Given the description of an element on the screen output the (x, y) to click on. 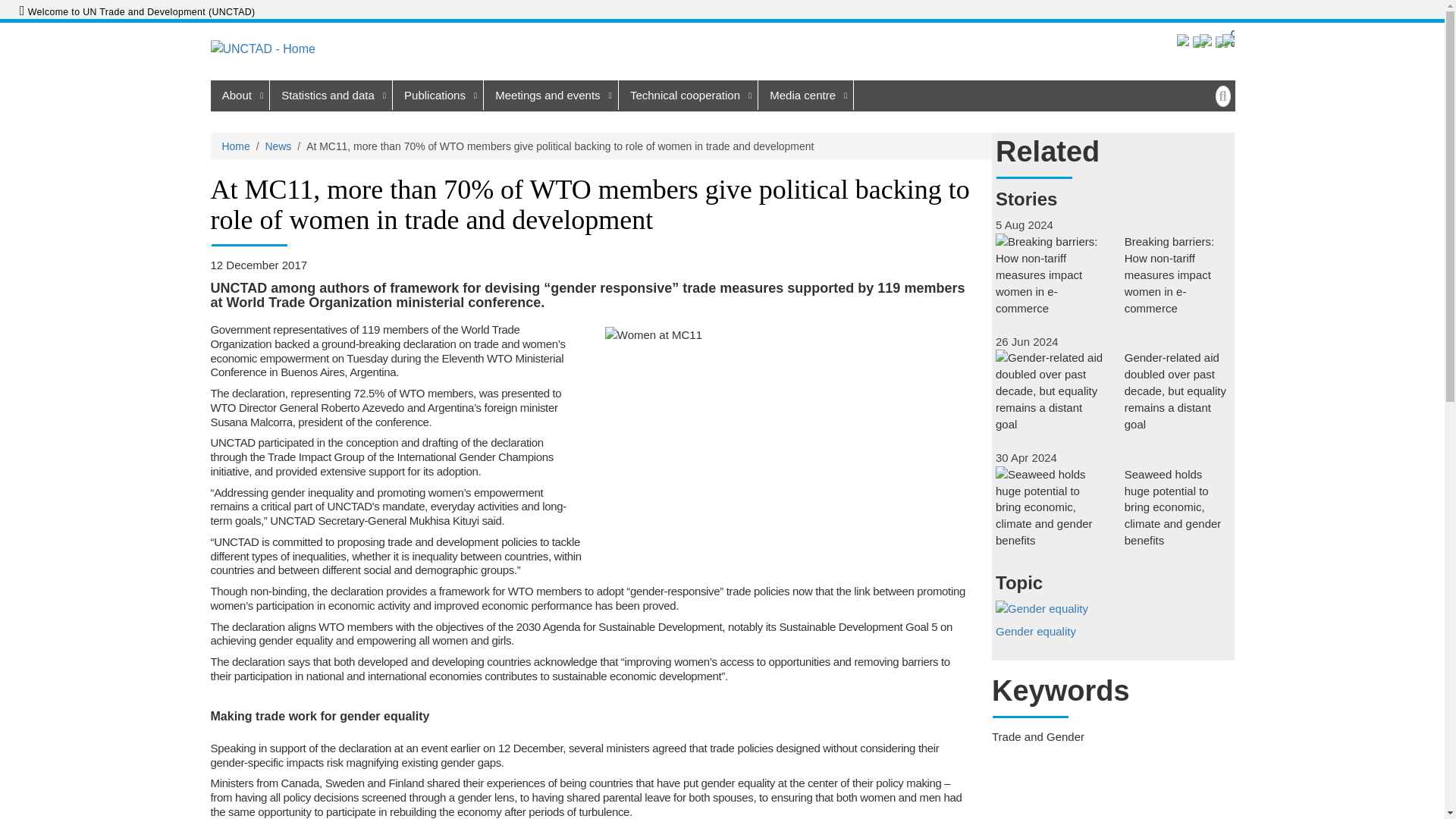
Statistics and data (331, 94)
Gender equality (1112, 627)
Home (286, 48)
About (240, 94)
